Given the description of an element on the screen output the (x, y) to click on. 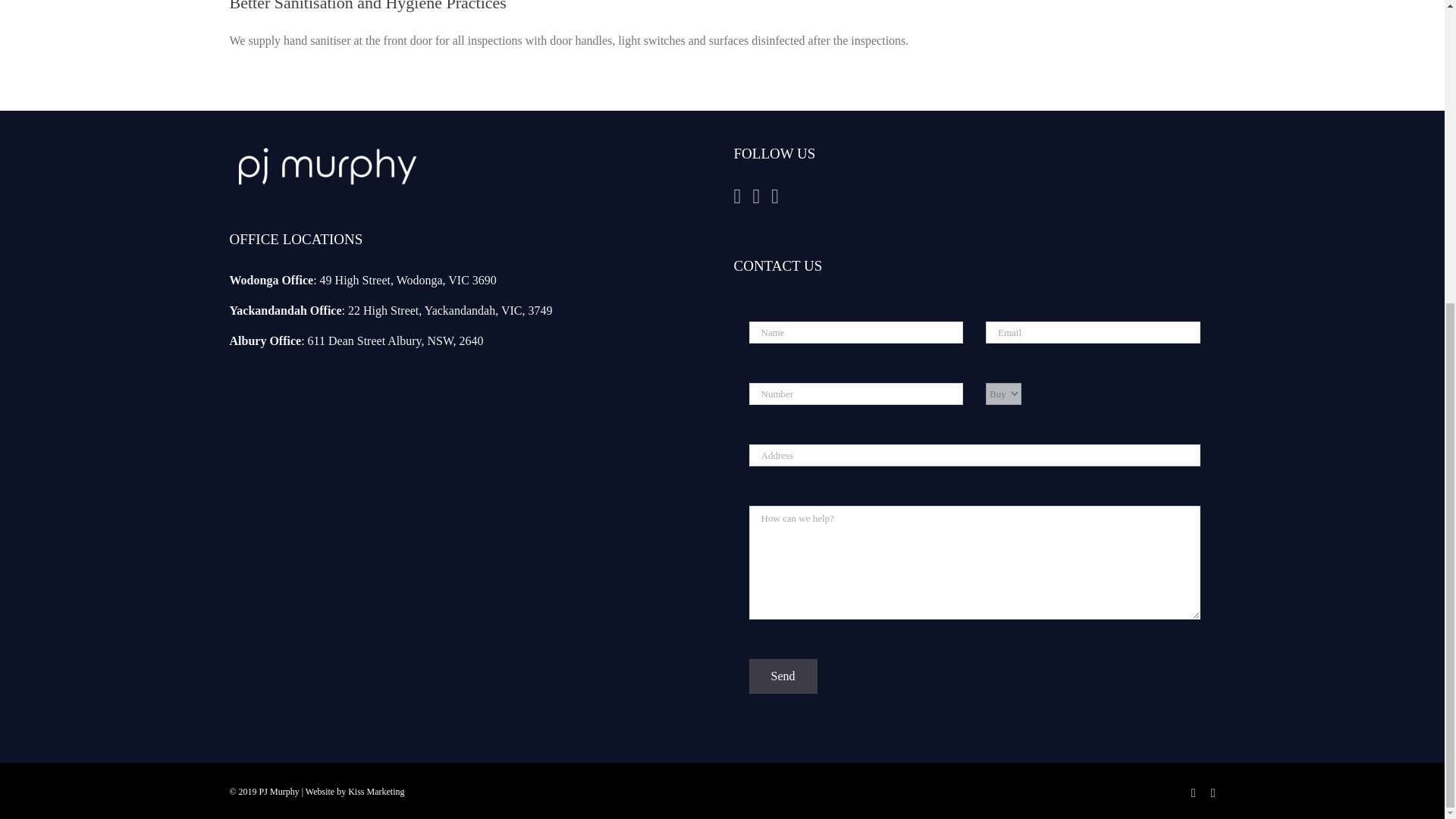
Kiss Marketing (375, 791)
Send (782, 675)
Send (782, 675)
